Given the description of an element on the screen output the (x, y) to click on. 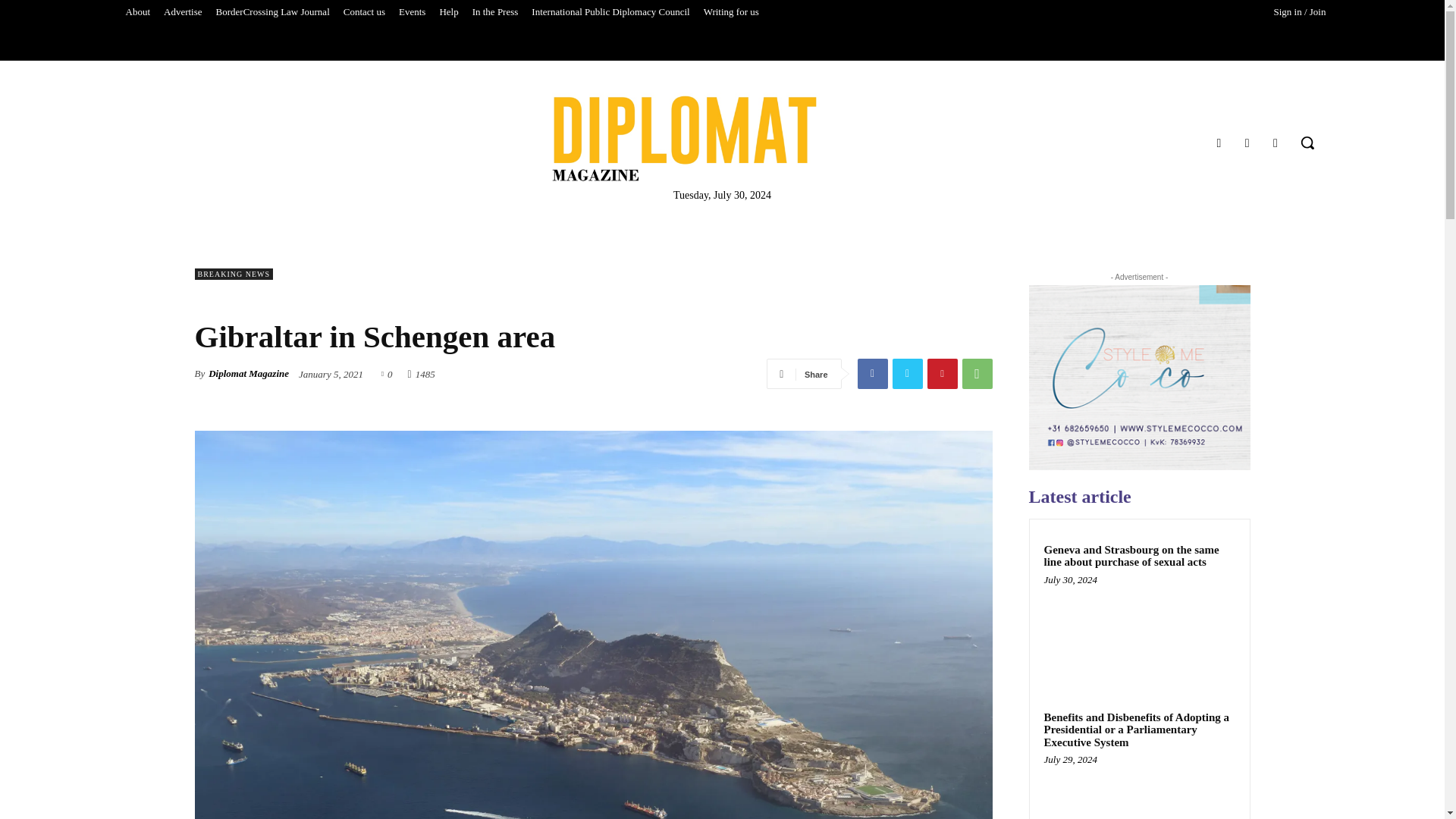
Writing for us (731, 12)
In the Press (495, 12)
About (137, 12)
Instagram (1246, 142)
Help (448, 12)
Diplomat Magazine (721, 138)
Contact us (363, 12)
Advertise (183, 12)
Diplomat Magazine (683, 138)
Twitter (1275, 142)
International Public Diplomacy Council (609, 12)
Events (411, 12)
BorderCrossing Law Journal (272, 12)
Facebook (1218, 142)
